Given the description of an element on the screen output the (x, y) to click on. 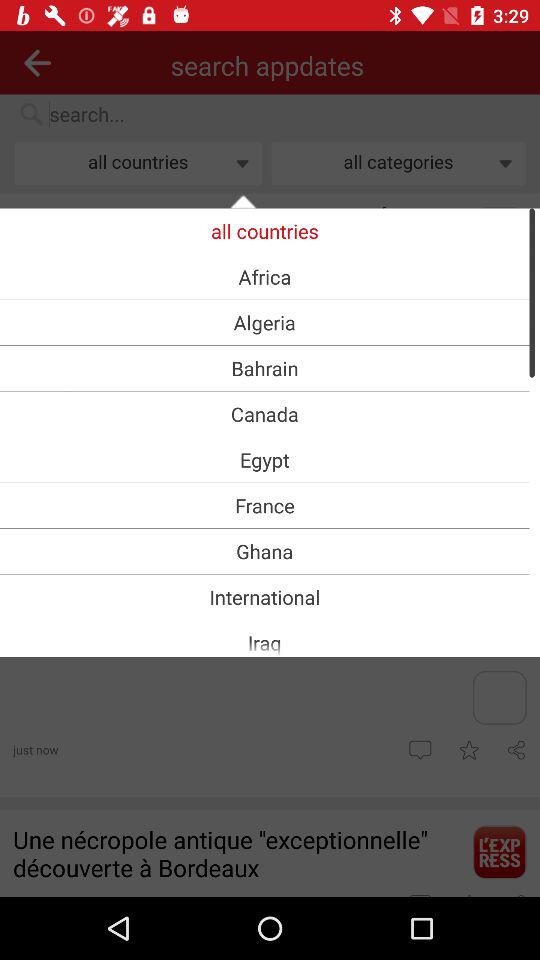
jump to all countries item (264, 230)
